Given the description of an element on the screen output the (x, y) to click on. 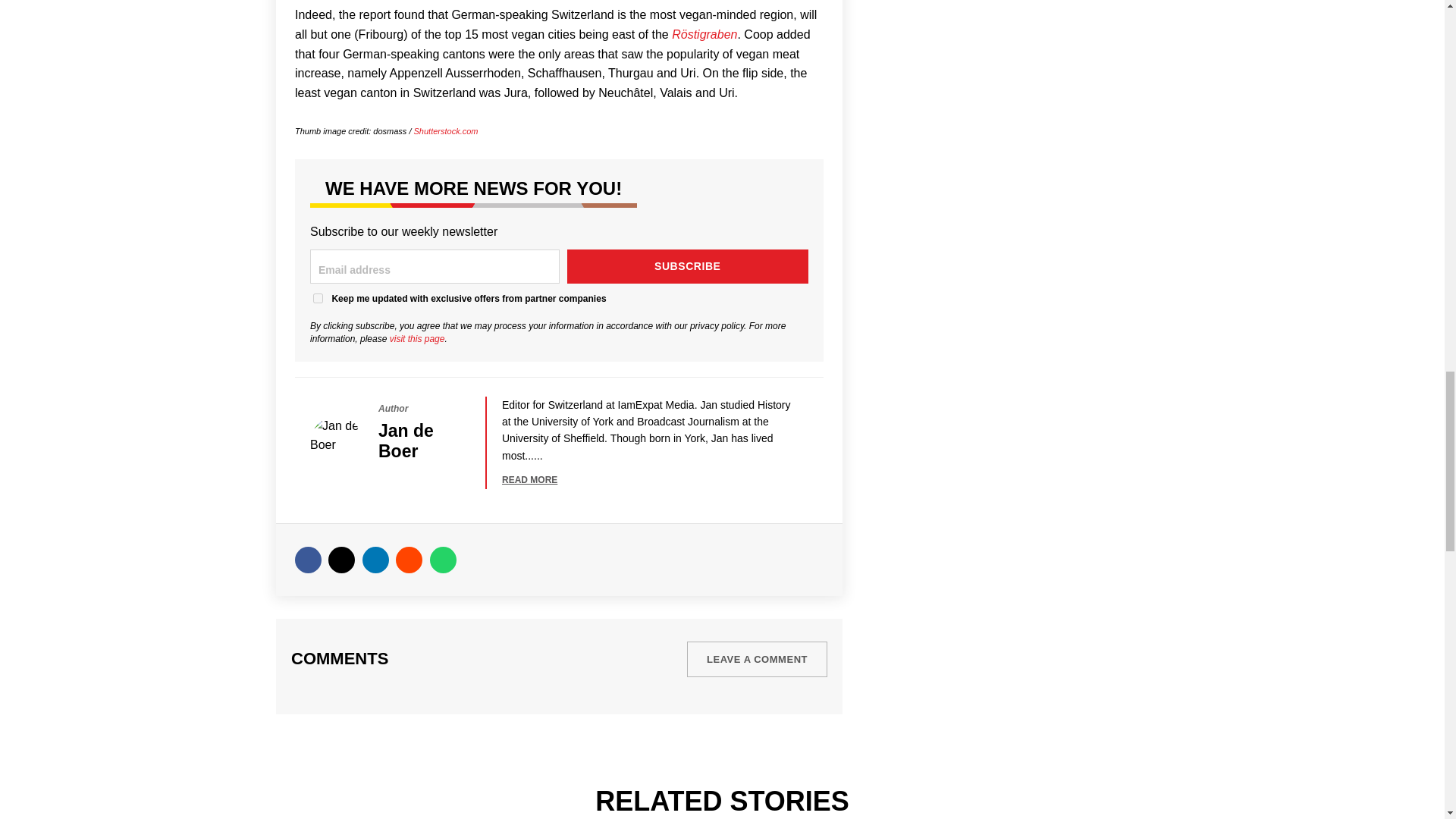
Subscribe (688, 266)
Leave a comment (757, 659)
0ad6d50423 (318, 298)
